Given the description of an element on the screen output the (x, y) to click on. 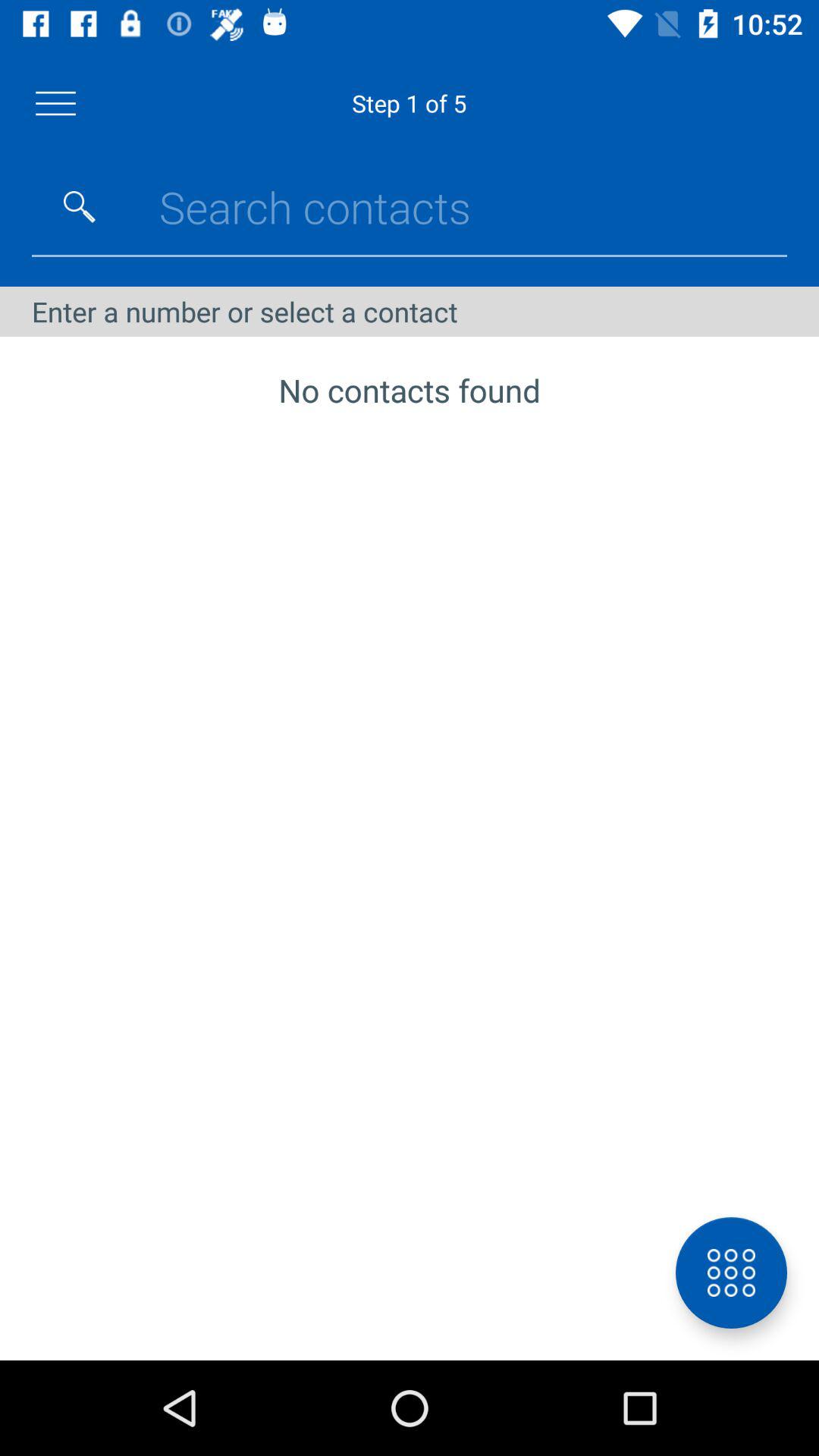
turn off the item below the enter a number (731, 1272)
